Given the description of an element on the screen output the (x, y) to click on. 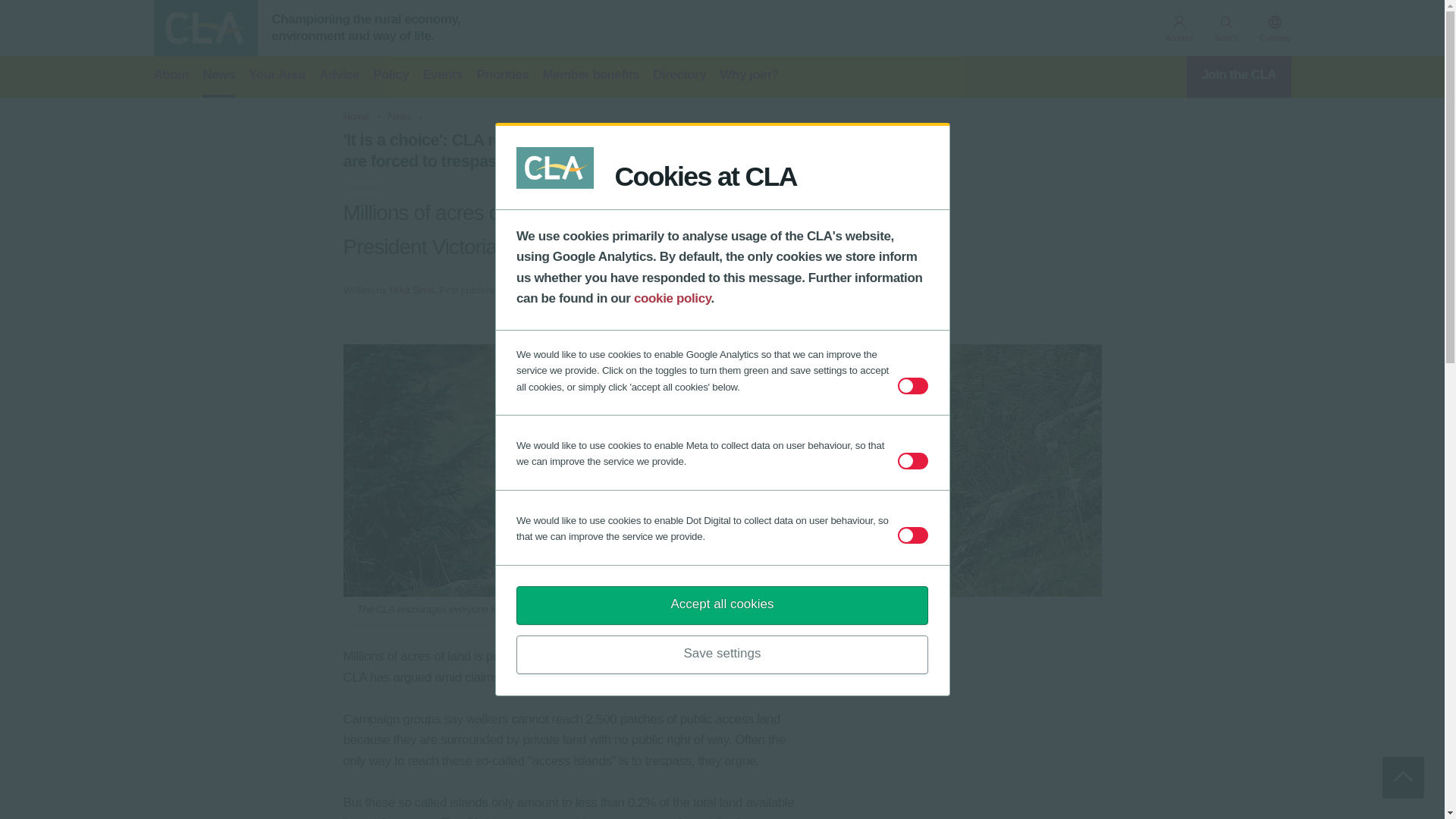
Accept all cookies (722, 605)
News (399, 116)
Why join? (749, 76)
cookie policy (672, 298)
Join the CLA (1238, 76)
Save settings (722, 654)
Home (355, 116)
Cymraeg (1275, 29)
Your Area (276, 76)
Events (442, 76)
Account (1178, 29)
Priorities (502, 76)
Advice (338, 76)
Member benefits (590, 76)
Directory (679, 76)
